Given the description of an element on the screen output the (x, y) to click on. 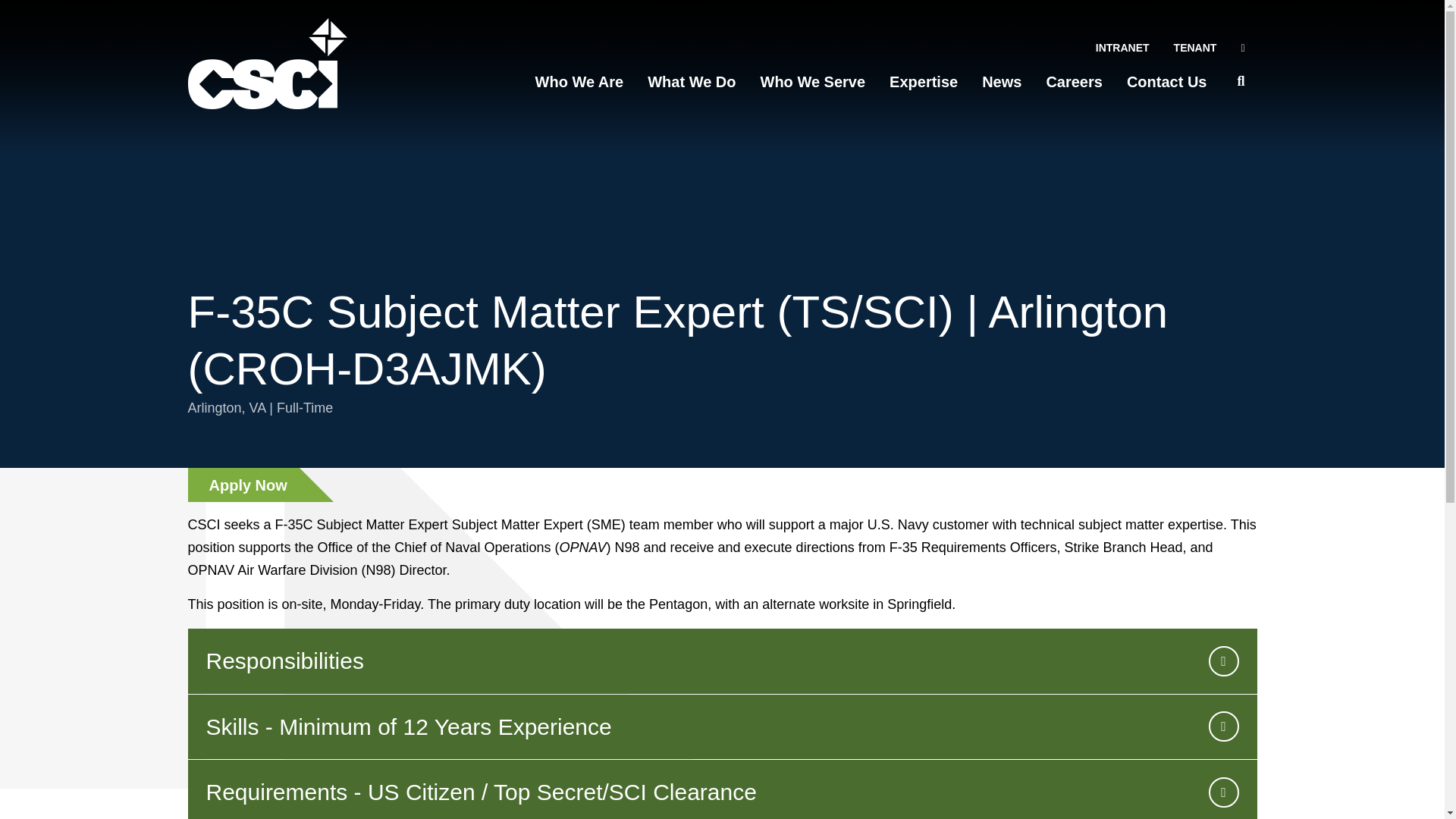
INTRANET (1122, 47)
Expertise (923, 81)
Who We Serve (812, 81)
Careers (1074, 81)
What We Do (691, 81)
Apply Now (243, 484)
News (1001, 81)
Contact Us (1167, 81)
Who We Are (579, 81)
TENANT (1194, 47)
